Given the description of an element on the screen output the (x, y) to click on. 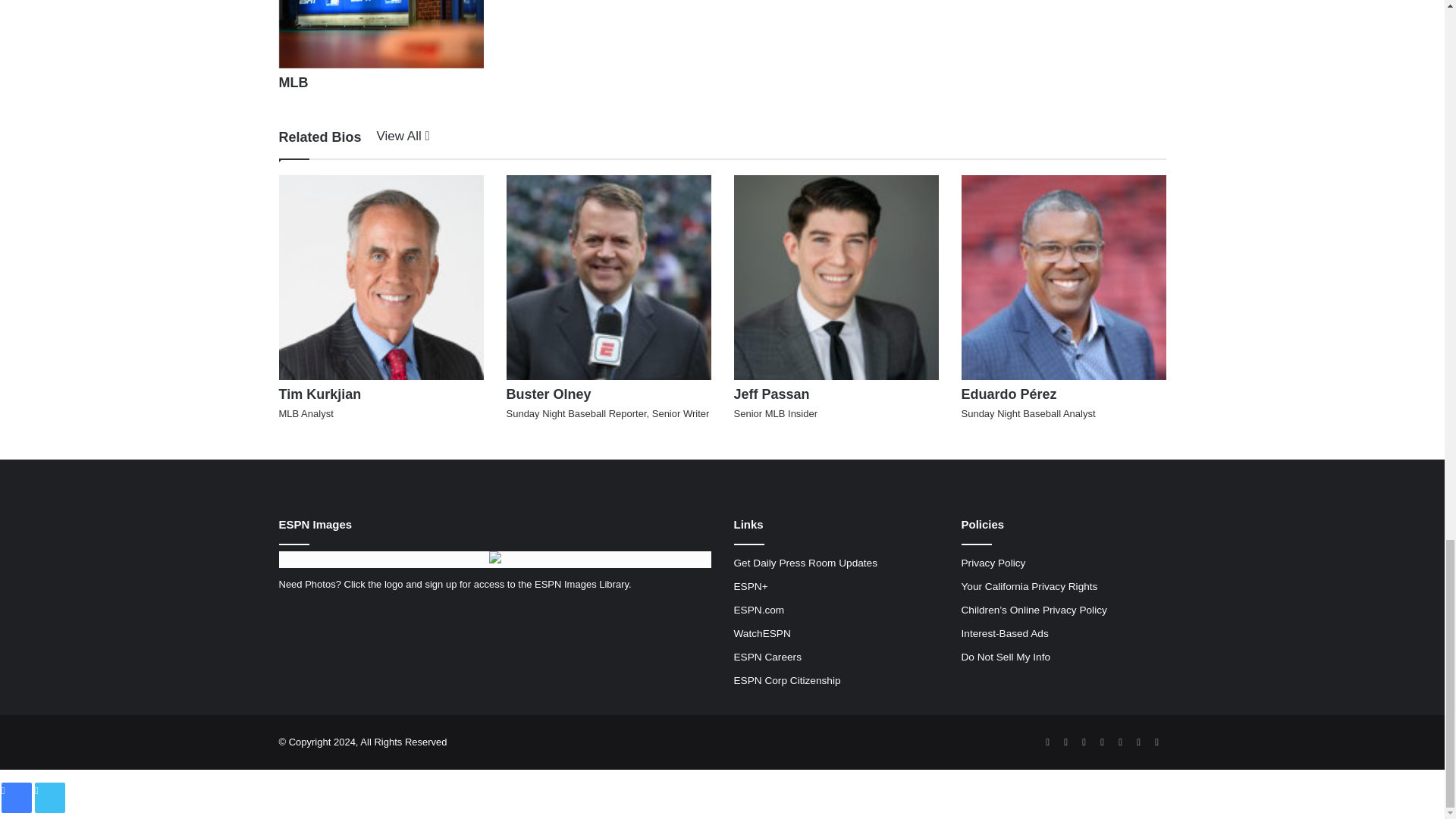
Buster Olney (548, 394)
Jeff Passan (771, 394)
MLB (293, 82)
Tim Kurkjian (320, 394)
